Given the description of an element on the screen output the (x, y) to click on. 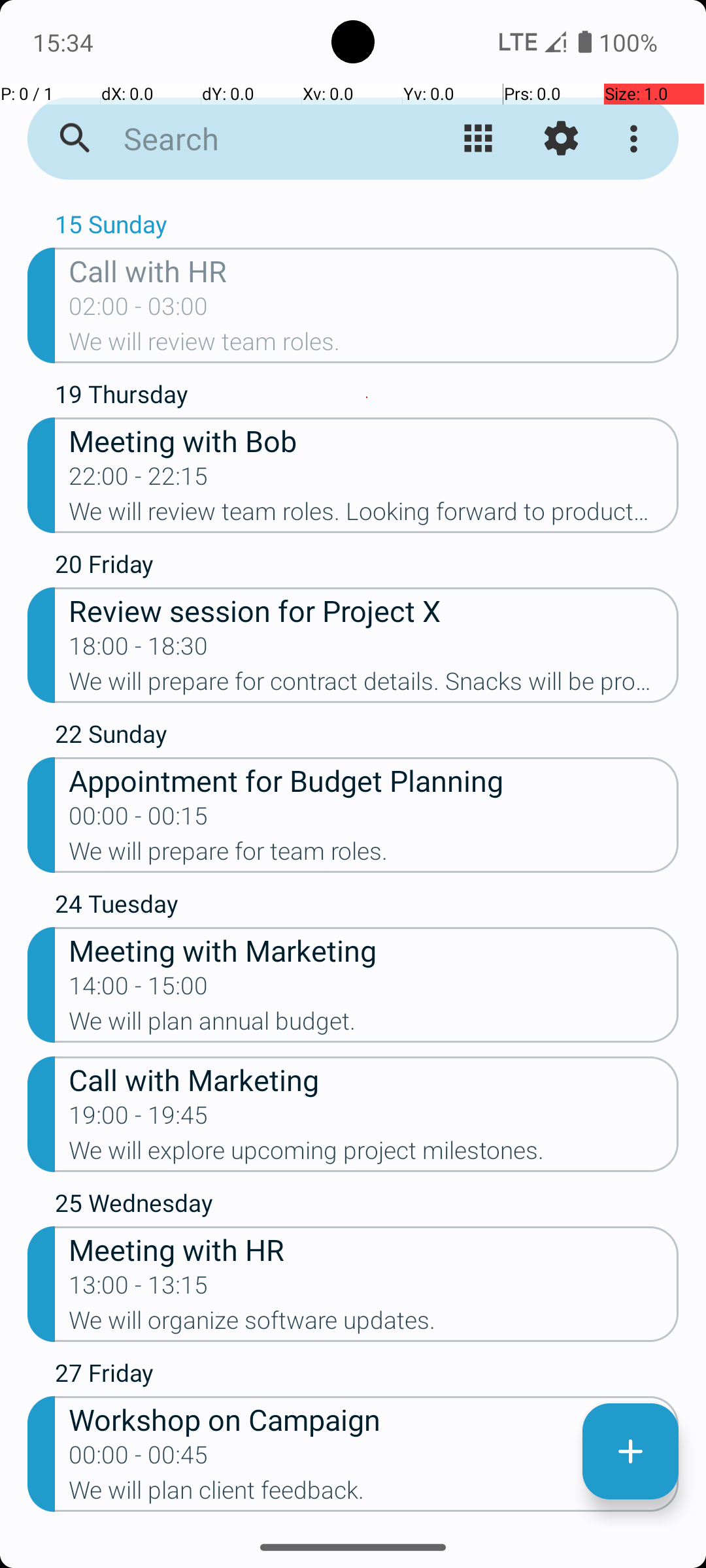
19 Thursday Element type: android.widget.TextView (366, 396)
20 Friday Element type: android.widget.TextView (366, 566)
22 Sunday Element type: android.widget.TextView (366, 736)
24 Tuesday Element type: android.widget.TextView (366, 906)
25 Wednesday Element type: android.widget.TextView (366, 1205)
27 Friday Element type: android.widget.TextView (366, 1375)
28 Saturday Element type: android.widget.TextView (366, 1525)
Call with HR Element type: android.widget.TextView (373, 269)
02:00 - 03:00 Element type: android.widget.TextView (137, 309)
We will review team roles. Element type: android.widget.TextView (373, 345)
22:00 - 22:15 Element type: android.widget.TextView (137, 479)
We will review team roles. Looking forward to productive discussions. Element type: android.widget.TextView (373, 515)
18:00 - 18:30 Element type: android.widget.TextView (137, 649)
We will prepare for contract details. Snacks will be provided. Element type: android.widget.TextView (373, 684)
00:00 - 00:15 Element type: android.widget.TextView (137, 819)
We will prepare for team roles. Element type: android.widget.TextView (373, 854)
14:00 - 15:00 Element type: android.widget.TextView (137, 989)
We will plan annual budget. Element type: android.widget.TextView (373, 1024)
Call with Marketing Element type: android.widget.TextView (373, 1078)
19:00 - 19:45 Element type: android.widget.TextView (137, 1118)
We will explore upcoming project milestones. Element type: android.widget.TextView (373, 1154)
13:00 - 13:15 Element type: android.widget.TextView (137, 1288)
We will organize software updates. Element type: android.widget.TextView (373, 1323)
00:00 - 00:45 Element type: android.widget.TextView (137, 1458)
We will plan client feedback. Element type: android.widget.TextView (373, 1493)
